Given the description of an element on the screen output the (x, y) to click on. 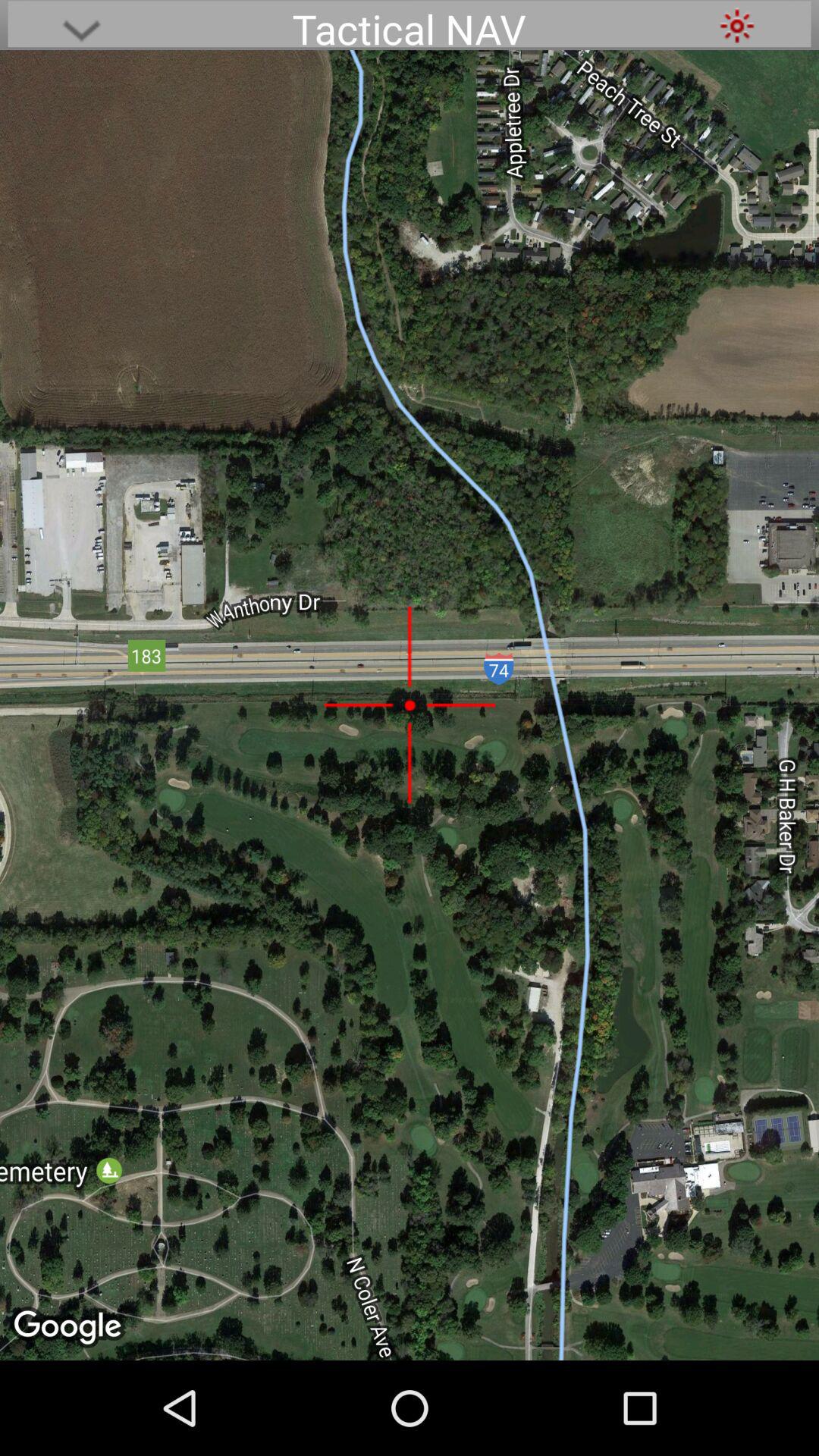
brings up additional options (81, 25)
